Given the description of an element on the screen output the (x, y) to click on. 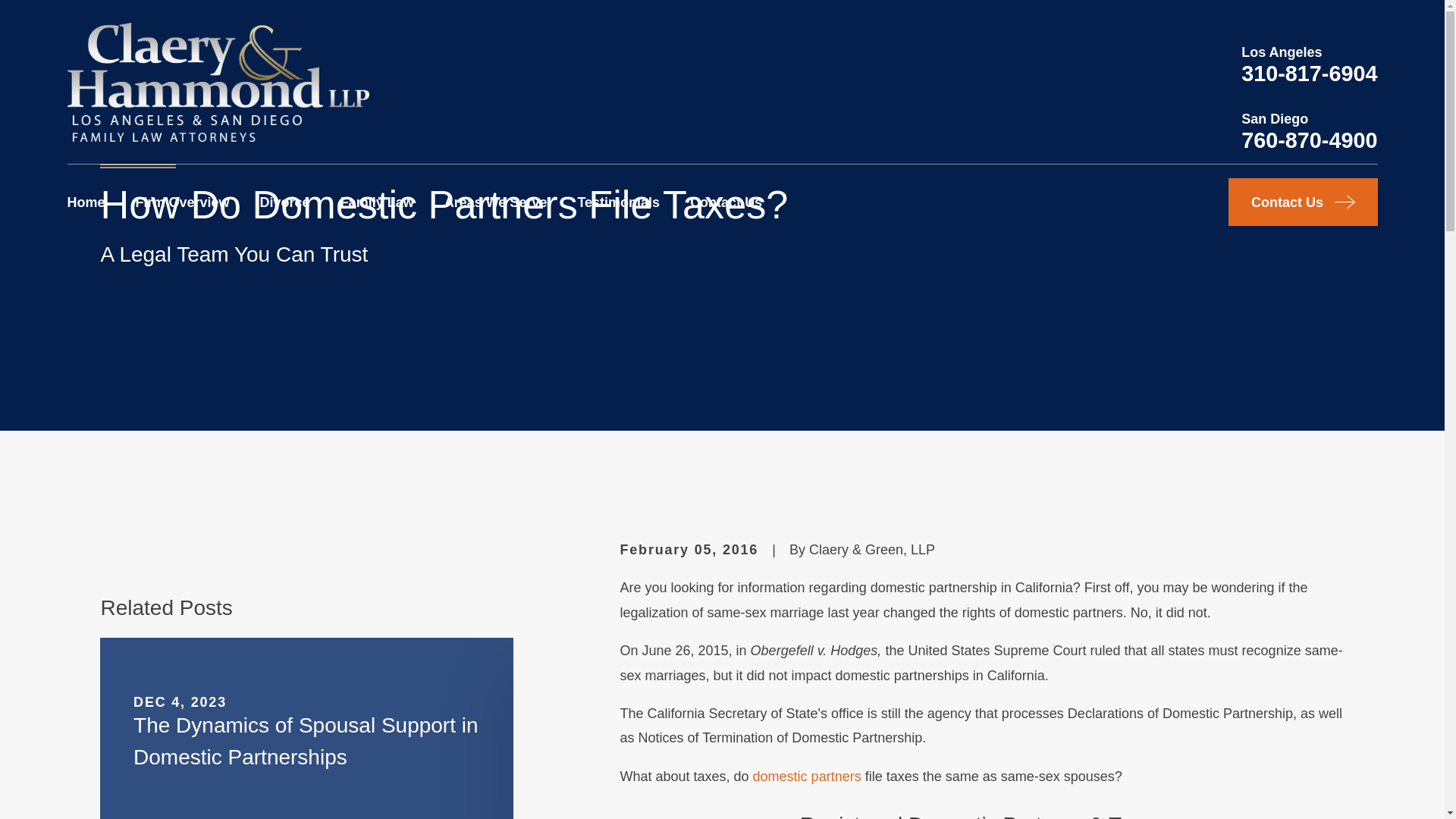
Divorce (285, 202)
310-817-6904 (1309, 73)
Firm Overview (182, 202)
Home (217, 81)
760-870-4900 (1309, 139)
Family Law (376, 202)
